Given the description of an element on the screen output the (x, y) to click on. 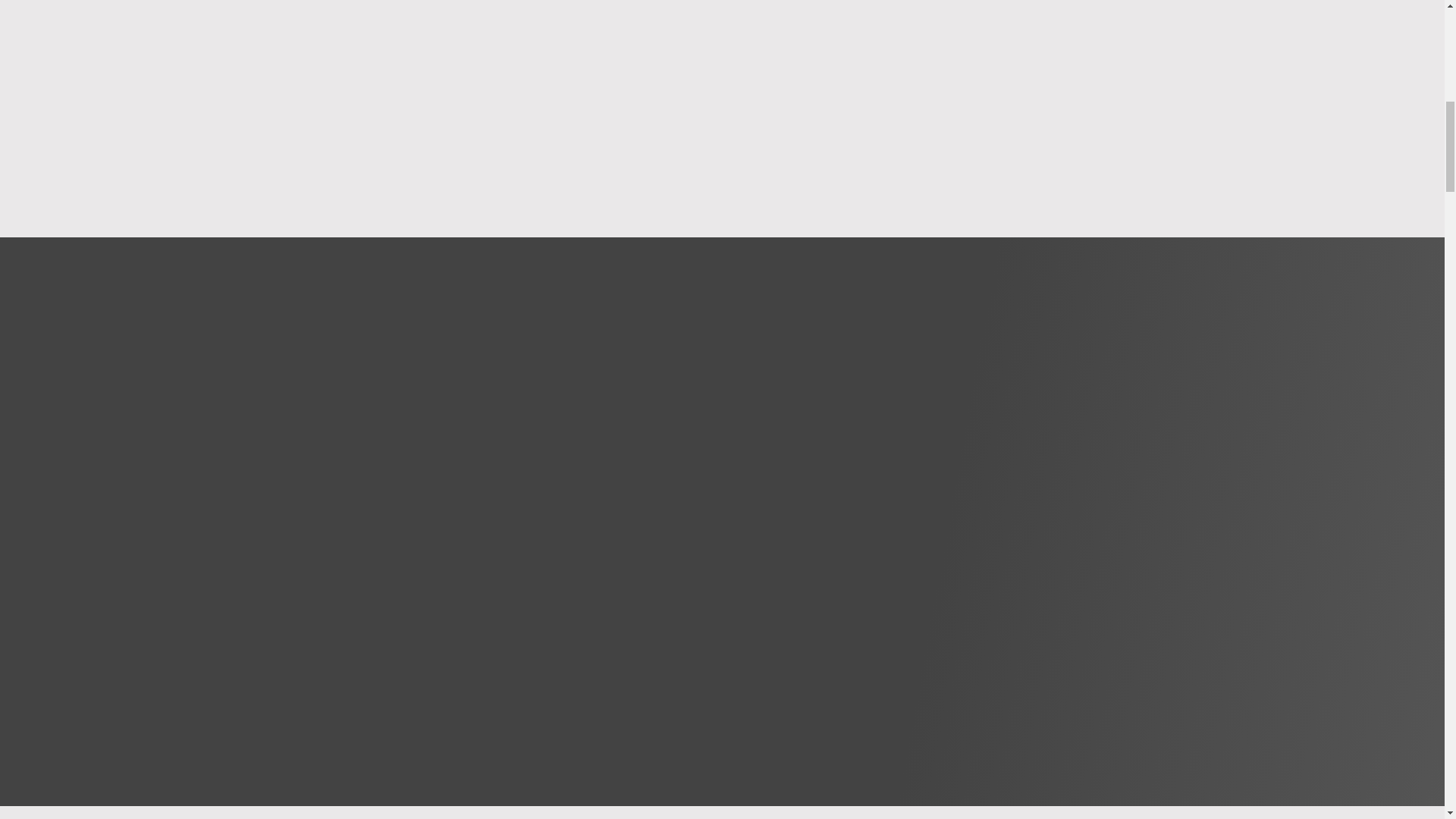
ICON-HAMBURGER (130, 47)
